Given the description of an element on the screen output the (x, y) to click on. 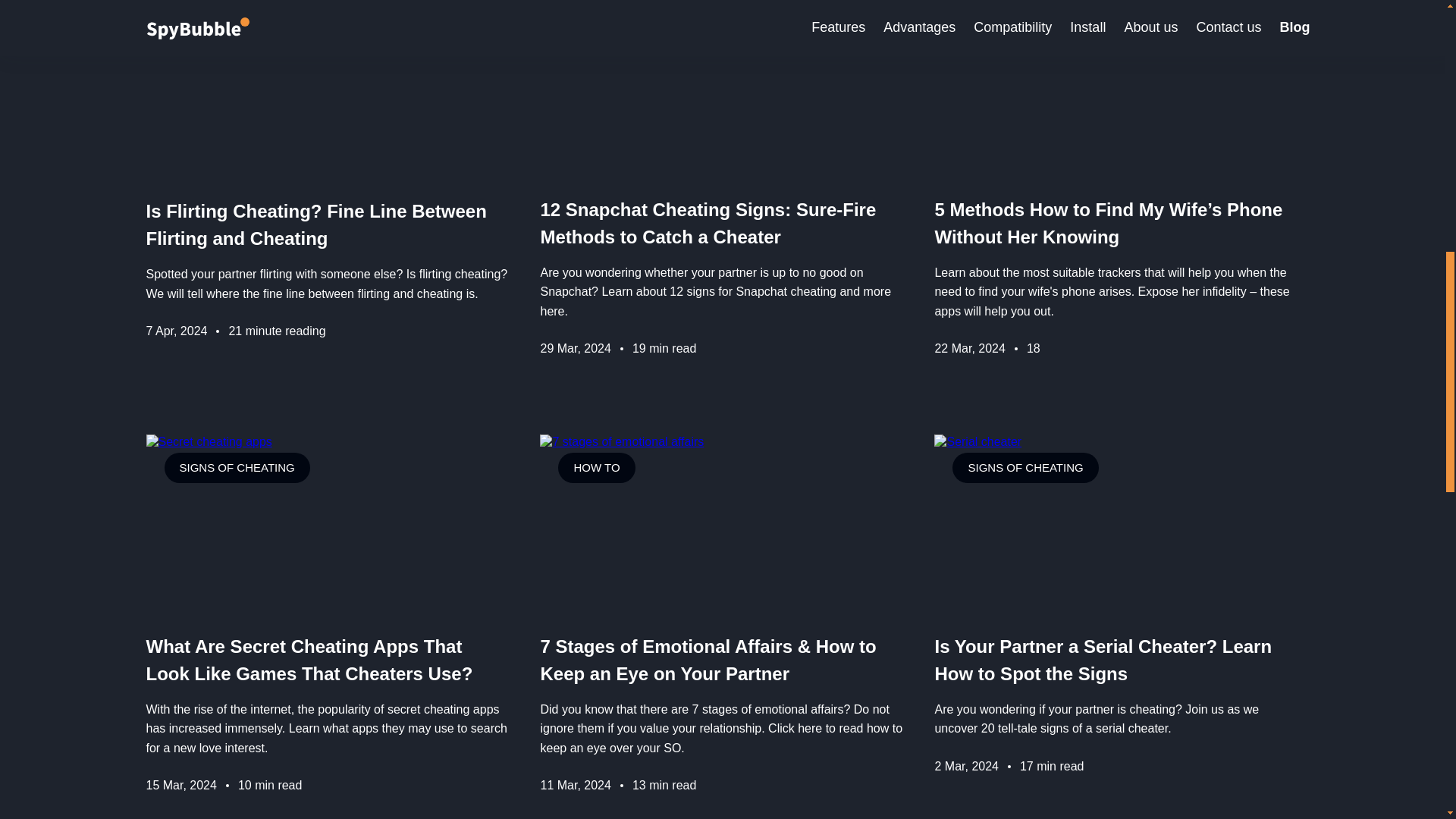
RELATIONSHIPS (377, 30)
SIGNS OF CHEATING (235, 467)
HOW TO (595, 467)
SIGNS OF CHEATING (1024, 467)
SIGNS OF CHEATING (235, 30)
SIGNS OF CHEATING (1109, 30)
SIGNS OF CHEATING (630, 30)
HOW TO (990, 30)
